Given the description of an element on the screen output the (x, y) to click on. 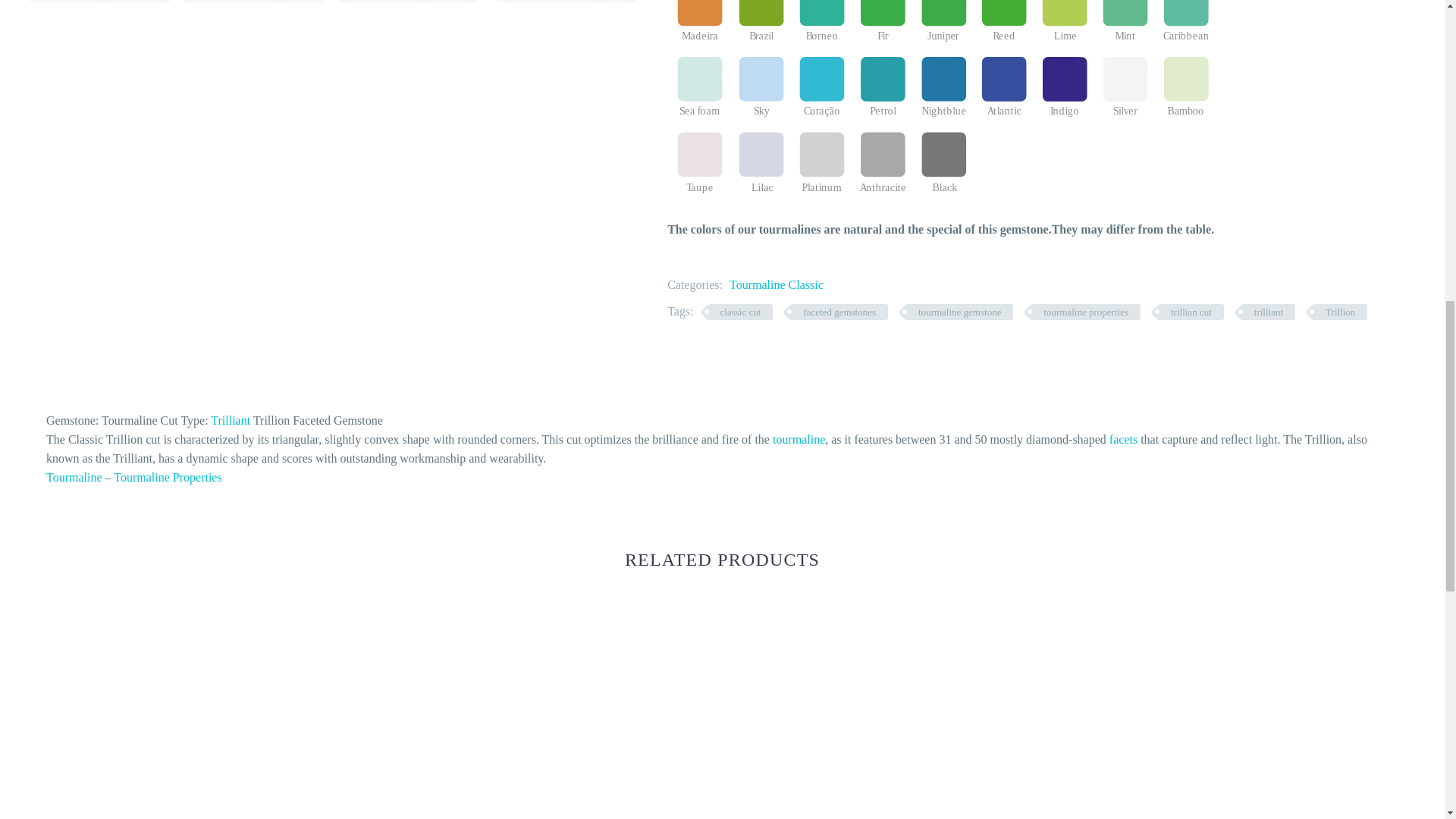
Trillion (1340, 311)
Tourmaline (73, 477)
Square (132, 714)
tourmaline (799, 439)
tourmaline properties (1085, 311)
Trilliant (230, 420)
classic cut (740, 311)
trilliant (1268, 311)
Tourmaline Classic (776, 284)
Tourmaline Properties (167, 477)
Fancy (368, 714)
faceted gemstones (839, 311)
trillian cut (1191, 311)
tourmaline gemstone (959, 311)
facets (1123, 439)
